Given the description of an element on the screen output the (x, y) to click on. 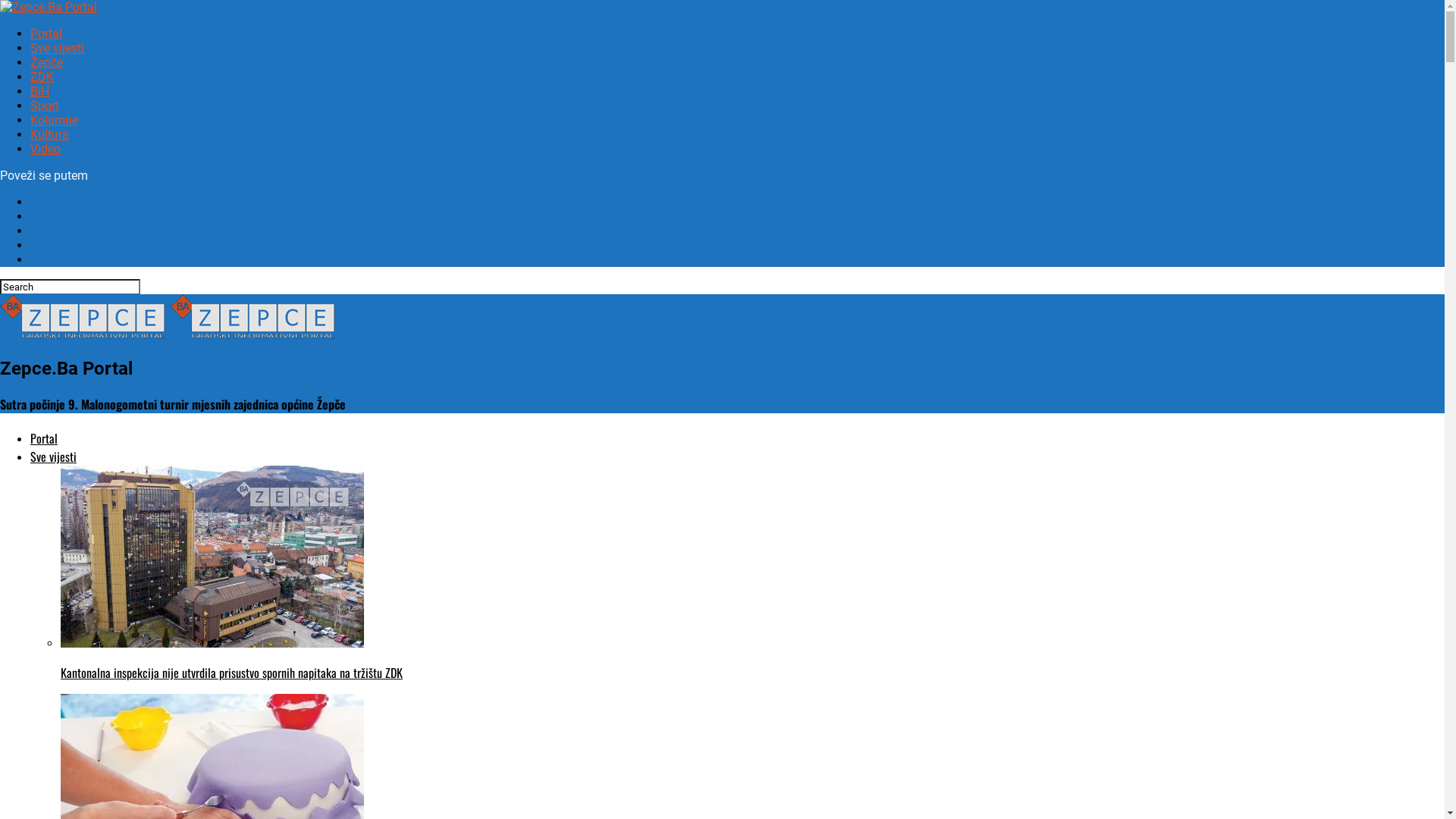
Sve vijesti Element type: text (53, 456)
Sport Element type: text (44, 105)
BiH Element type: text (39, 91)
Kultura Element type: text (49, 134)
Video Element type: text (45, 148)
Kolumne Element type: text (54, 119)
Sve vijesti Element type: text (57, 47)
Portal Element type: text (46, 33)
Portal Element type: text (43, 438)
ZDK Element type: text (41, 76)
